Given the description of an element on the screen output the (x, y) to click on. 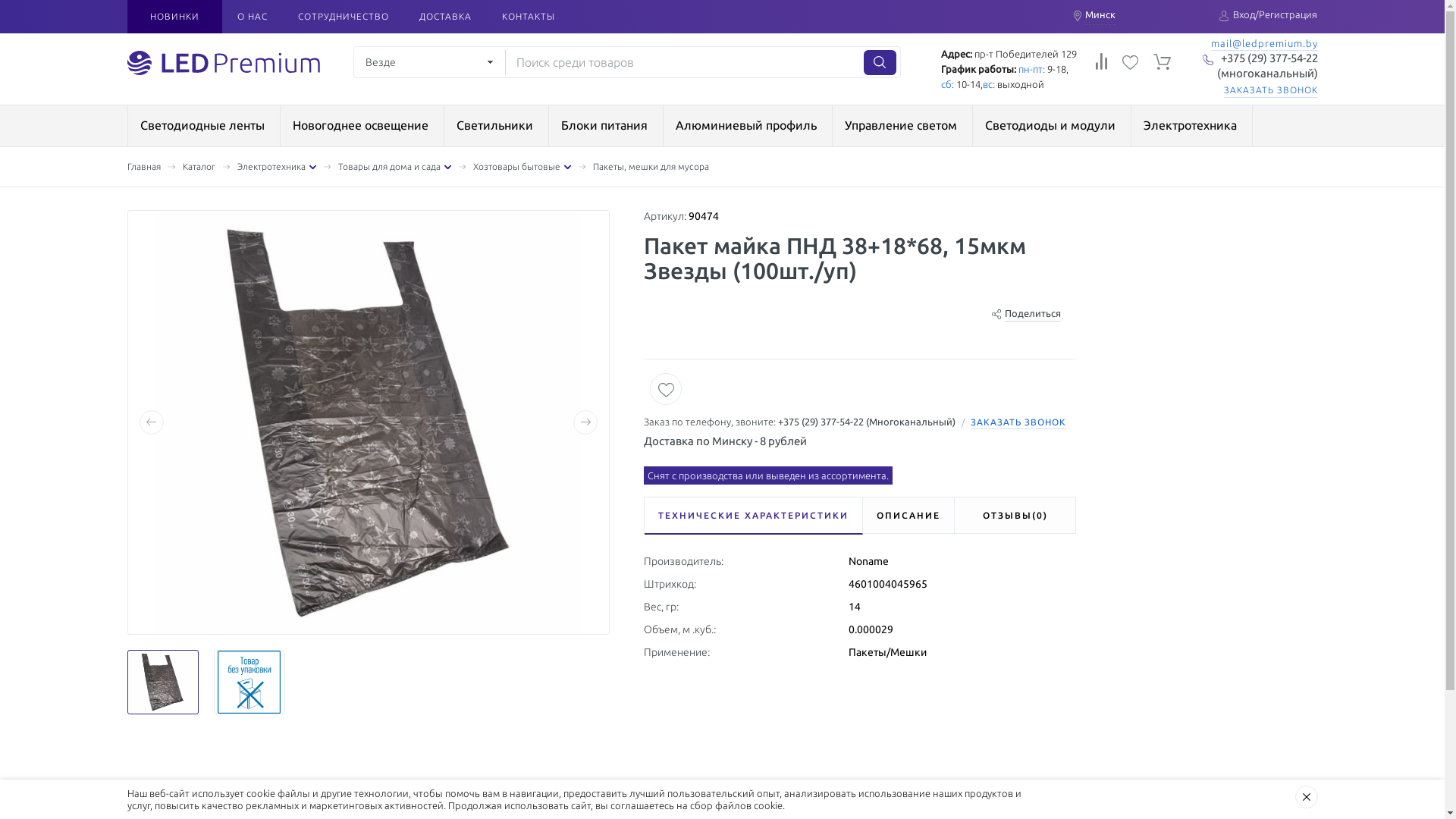
mail@ledpremium.by Element type: text (1263, 43)
